Given the description of an element on the screen output the (x, y) to click on. 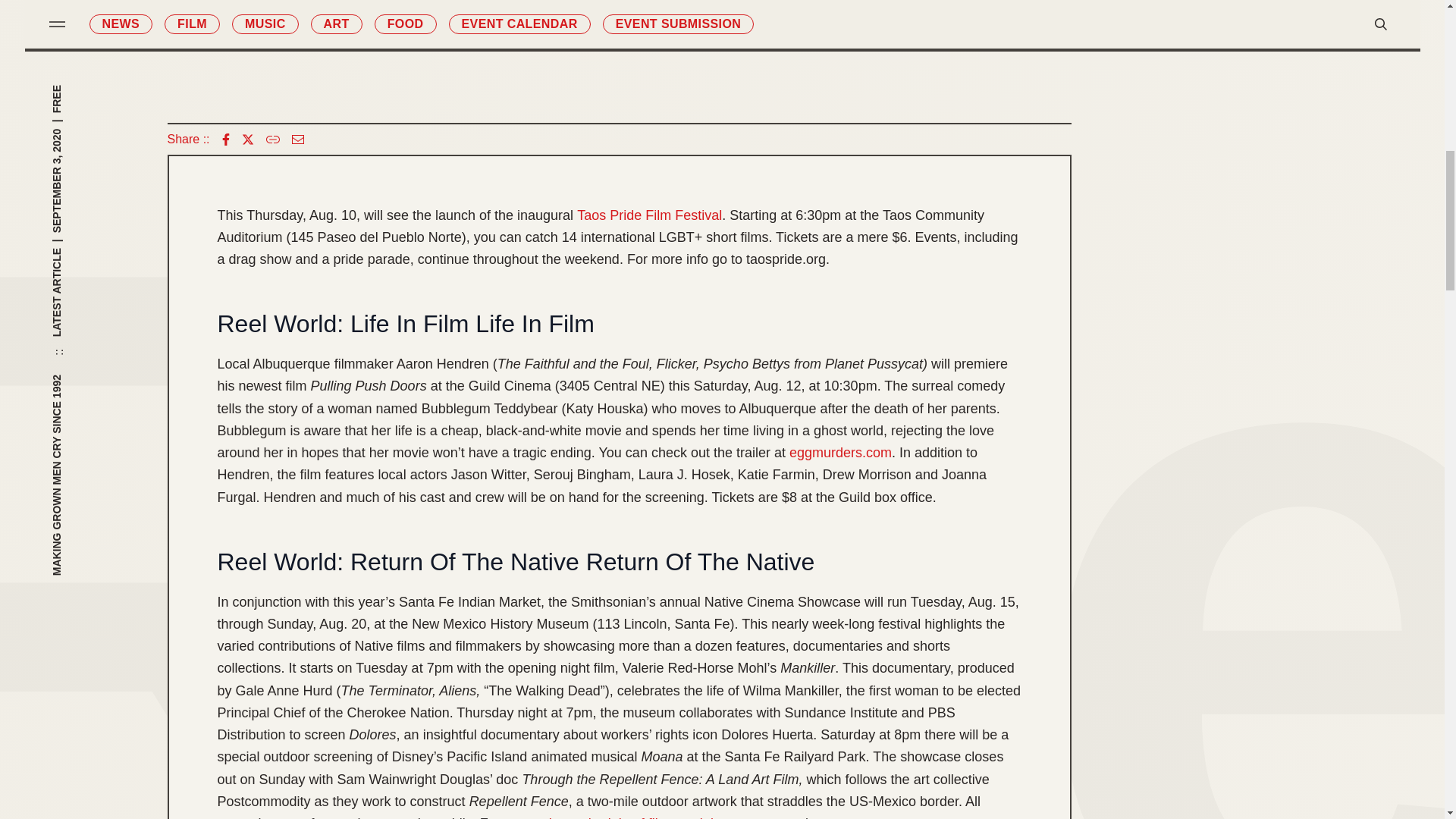
Advertisement (618, 49)
Taos Pride Film Festival (649, 215)
complete schedule of films and times (627, 816)
eggmurders.com (840, 453)
